Given the description of an element on the screen output the (x, y) to click on. 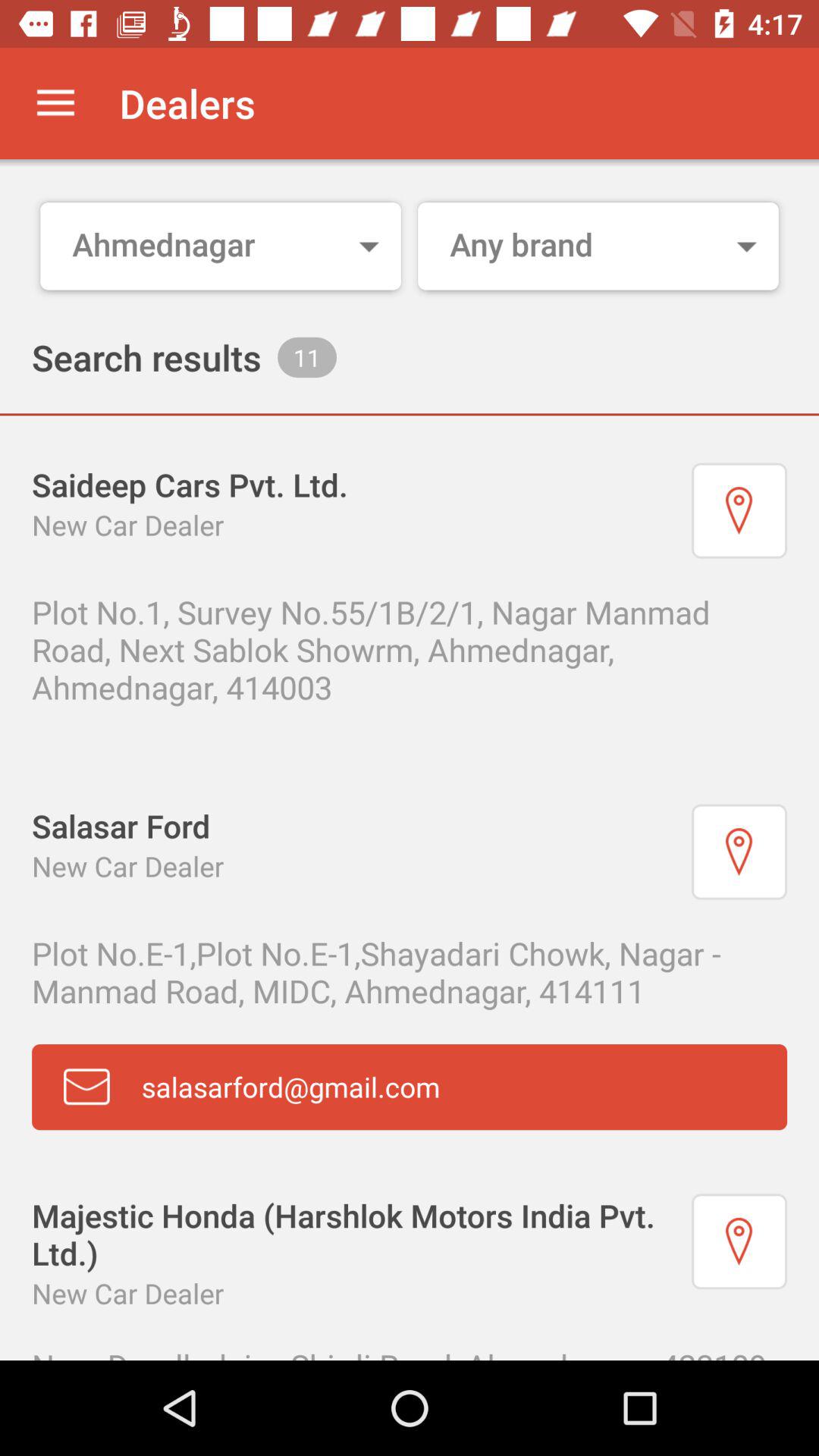
show on maps (739, 1241)
